Given the description of an element on the screen output the (x, y) to click on. 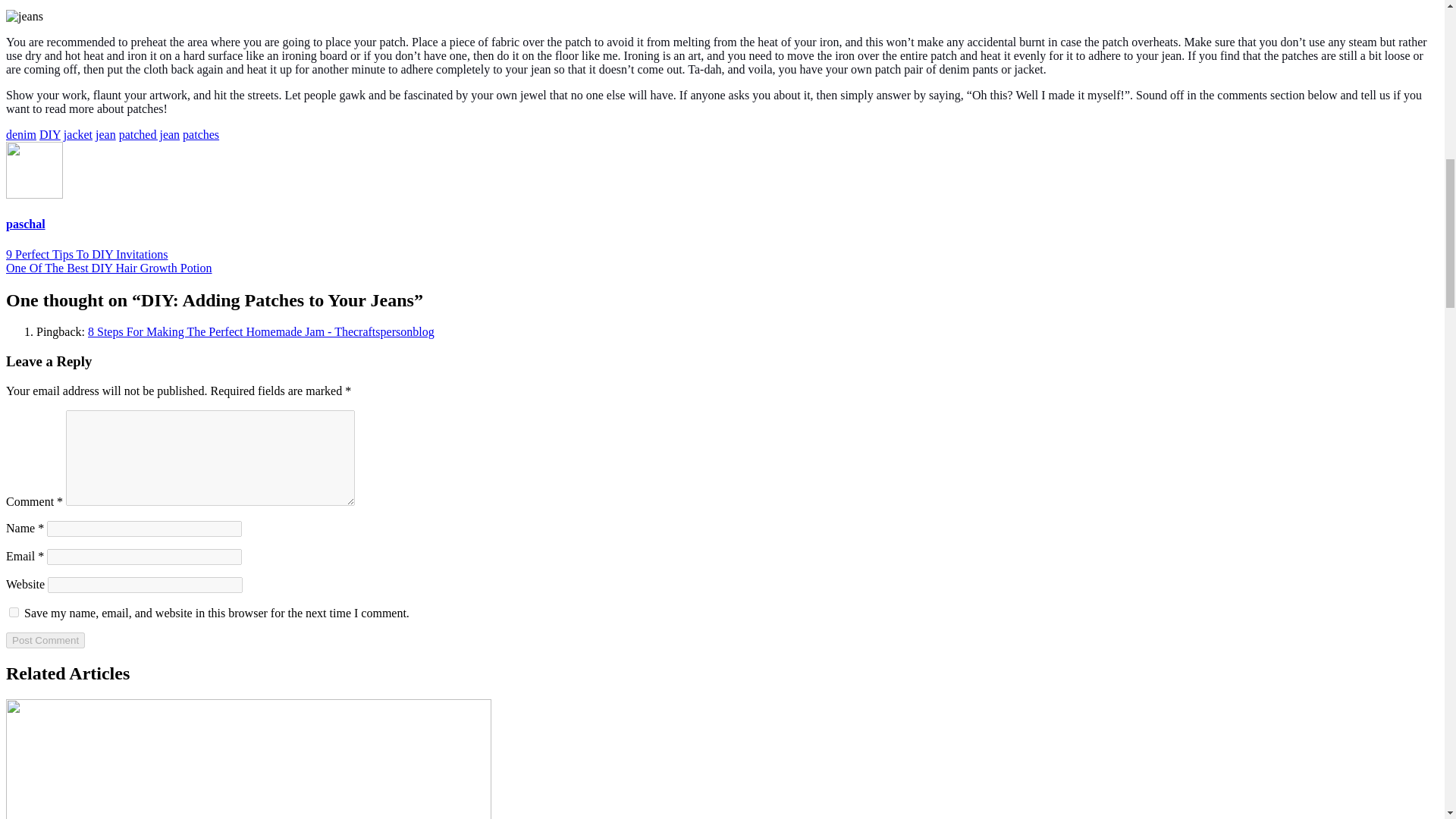
Post Comment (44, 640)
patches (201, 133)
jean (106, 133)
Post Comment (44, 640)
denim (20, 133)
patched jean (149, 133)
yes (13, 612)
DIY (50, 133)
9 Perfect Tips To DIY Invitations (86, 254)
